Given the description of an element on the screen output the (x, y) to click on. 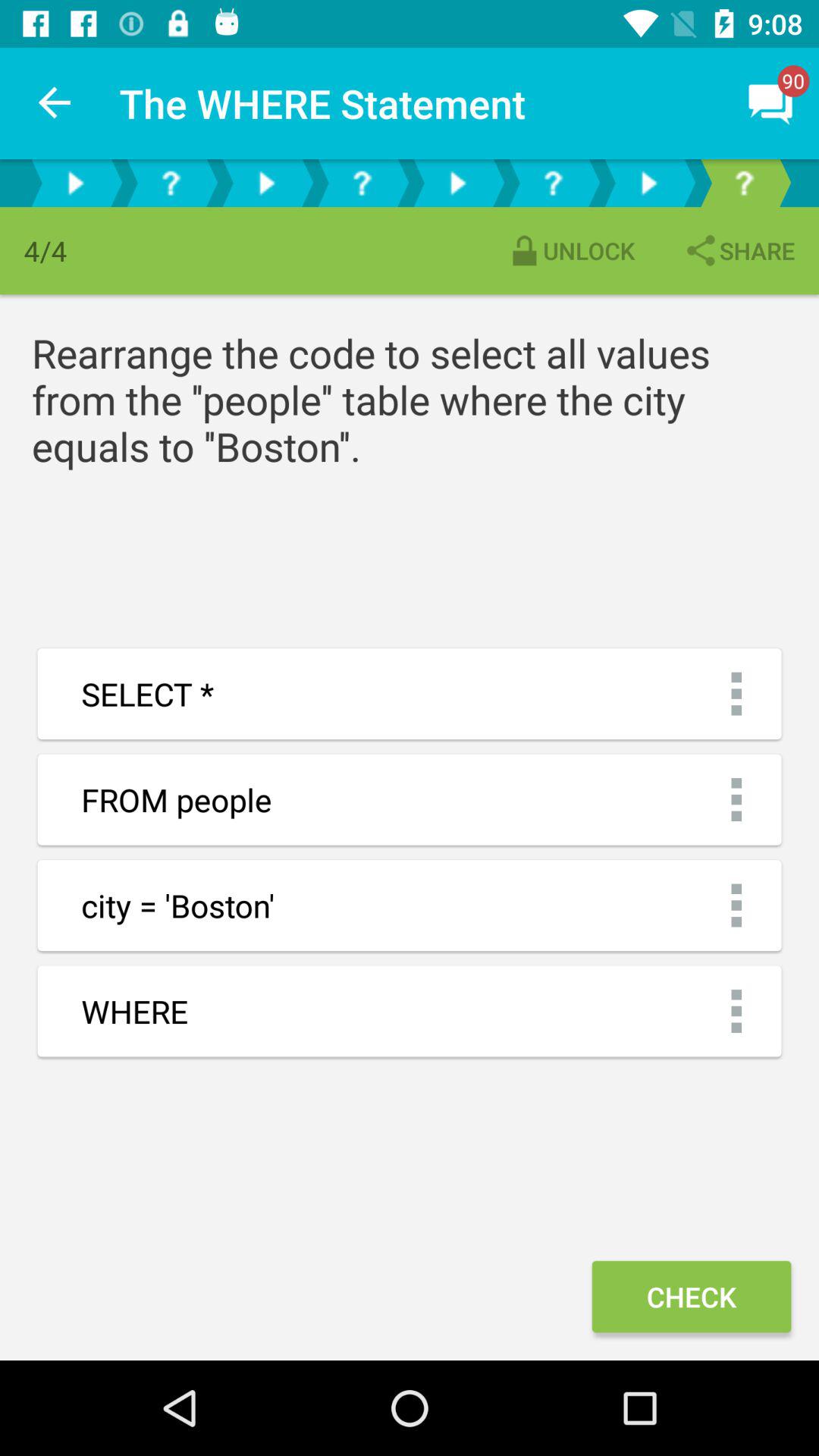
press the icon above rearrange the code (738, 250)
